Given the description of an element on the screen output the (x, y) to click on. 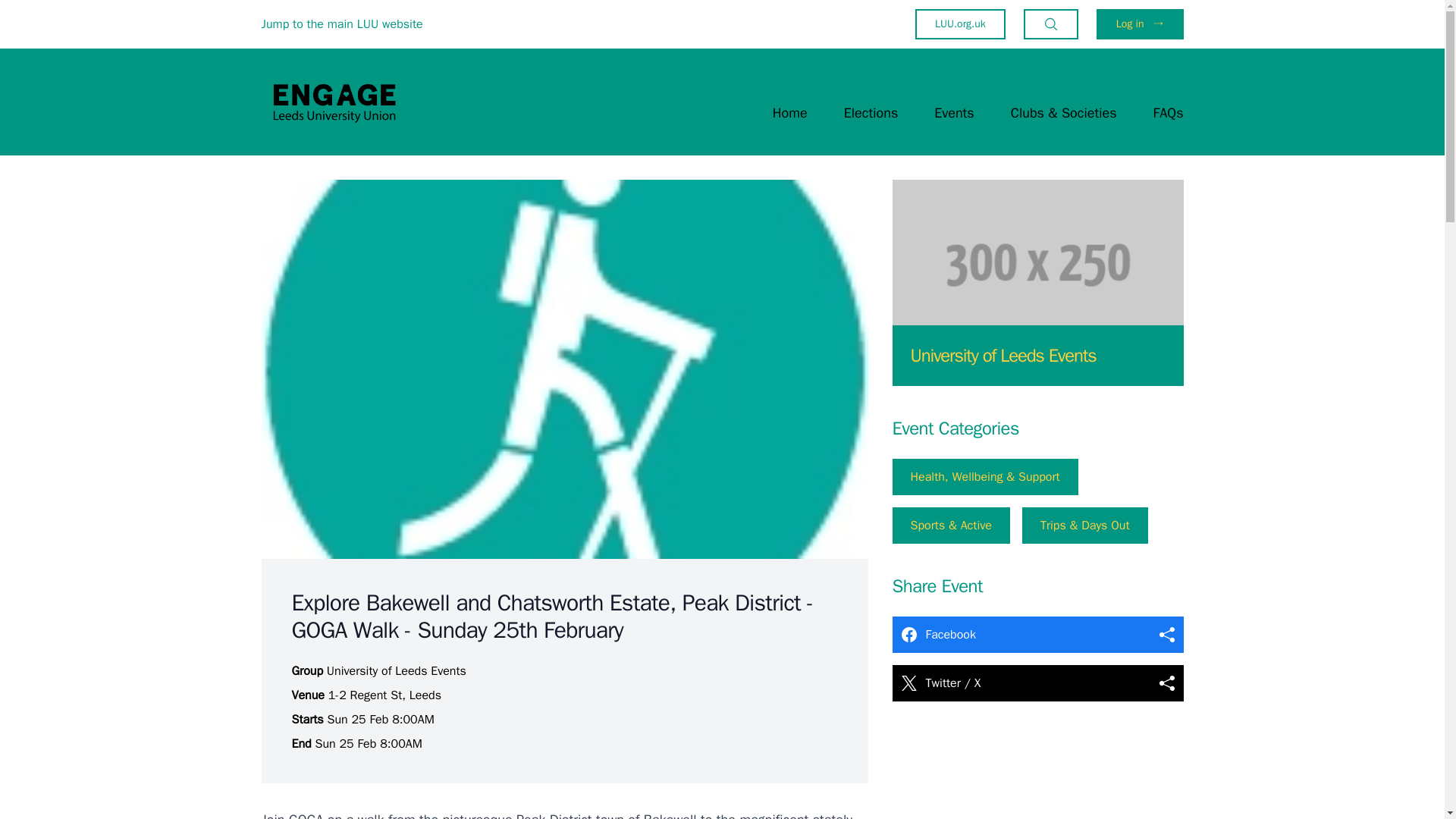
Jump to the main LUU website (341, 23)
Elections (871, 112)
University of Leeds Events (1003, 354)
FAQs (1168, 112)
Events (954, 112)
LUU.org.uk (960, 24)
Home (790, 112)
